Given the description of an element on the screen output the (x, y) to click on. 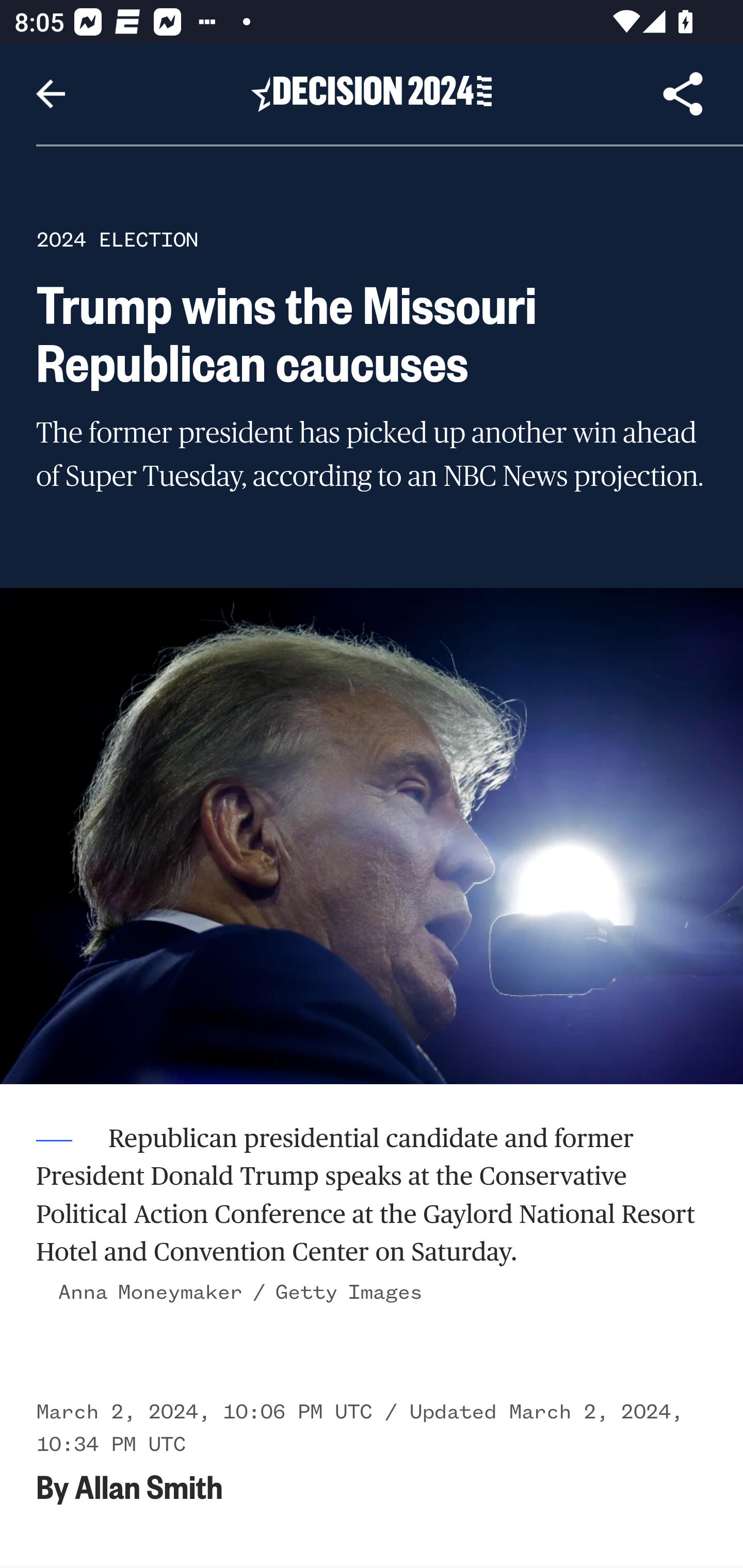
Navigate up (50, 93)
Share Article, button (683, 94)
Header, Decision 2024 (371, 93)
2024 ELECTION (117, 239)
